Given the description of an element on the screen output the (x, y) to click on. 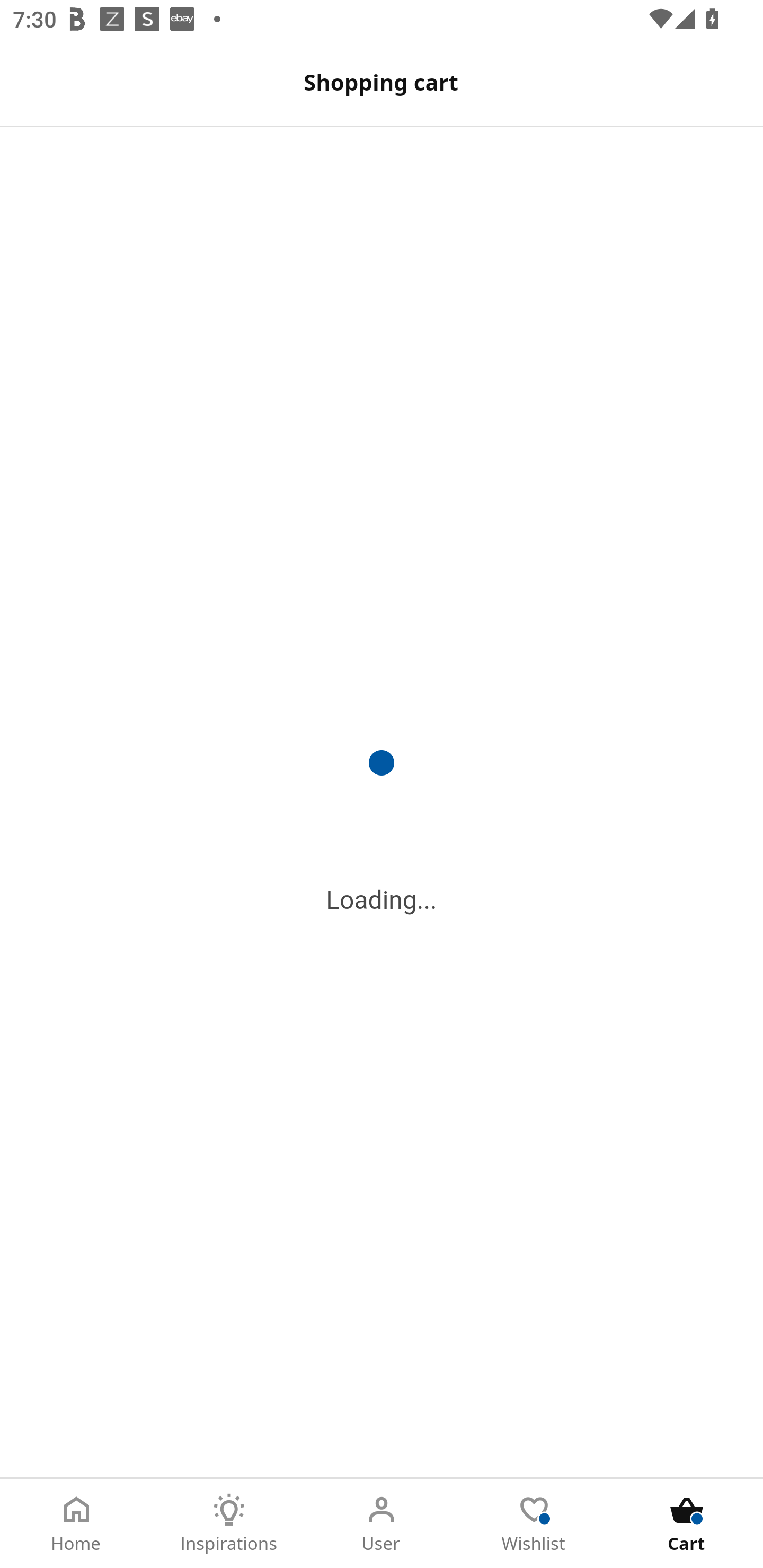
Home
Tab 1 of 5 (76, 1522)
Inspirations
Tab 2 of 5 (228, 1522)
User
Tab 3 of 5 (381, 1522)
Wishlist
Tab 4 of 5 (533, 1522)
Cart
Tab 5 of 5 (686, 1522)
